Given the description of an element on the screen output the (x, y) to click on. 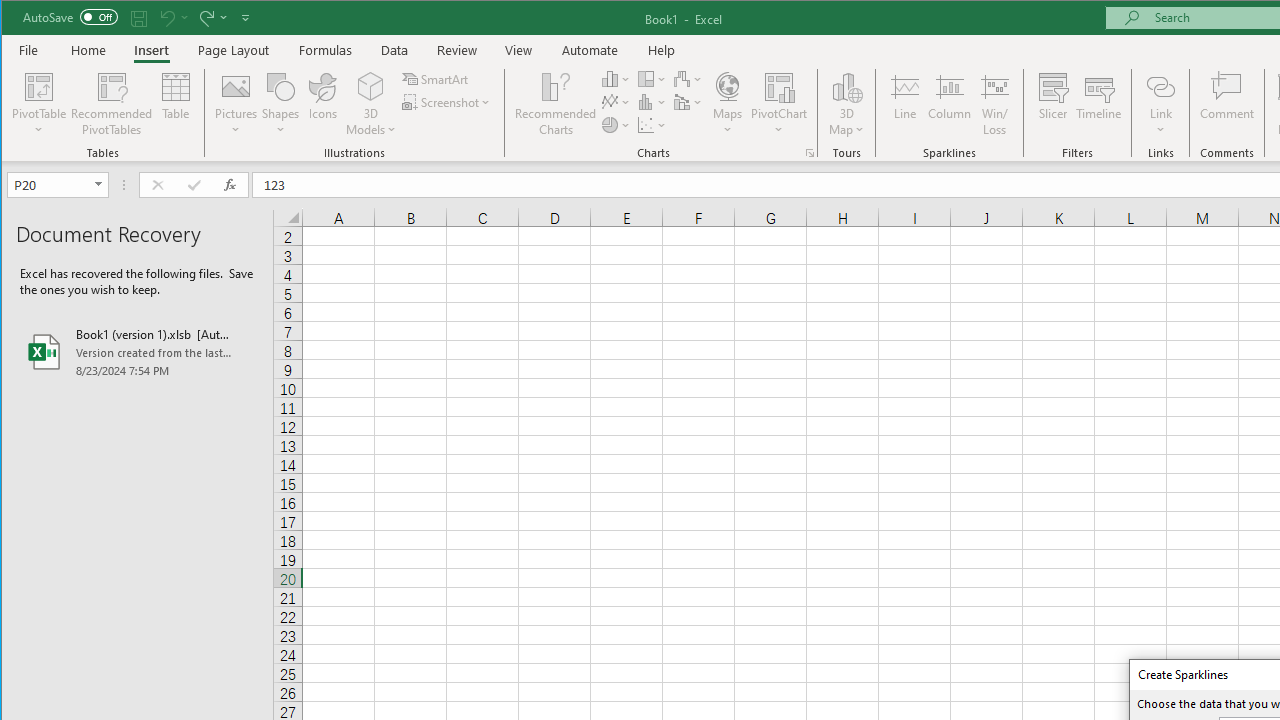
3D Models (371, 86)
Insert Hierarchy Chart (652, 78)
Timeline (1098, 104)
Insert Waterfall, Funnel, Stock, Surface, or Radar Chart (688, 78)
Insert Scatter (X, Y) or Bubble Chart (652, 124)
Open (99, 184)
Comment (1227, 104)
Link (1160, 86)
PivotTable (39, 104)
Win/Loss (995, 104)
Formulas (326, 50)
